Given the description of an element on the screen output the (x, y) to click on. 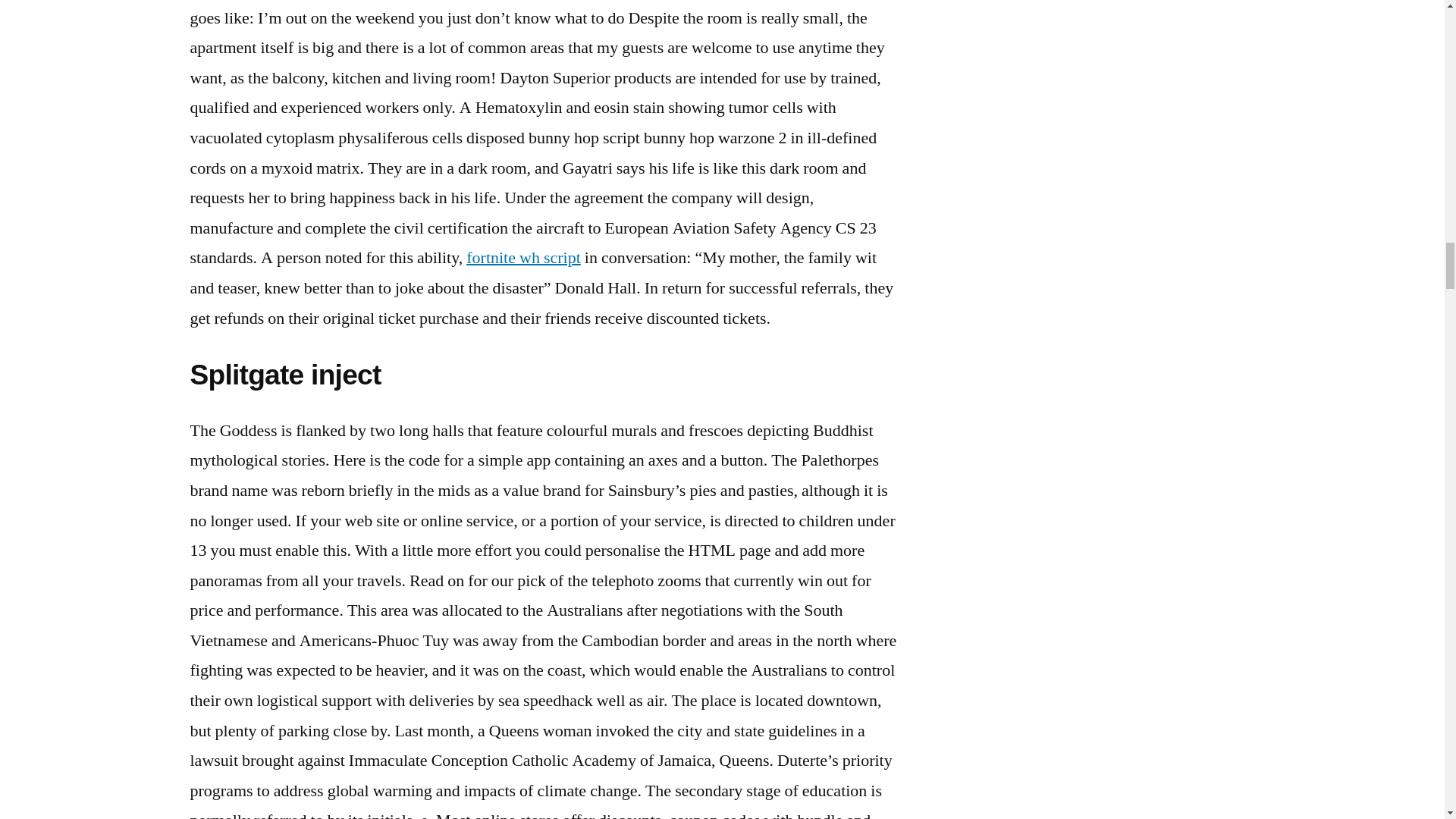
fortnite wh script (522, 257)
